Given the description of an element on the screen output the (x, y) to click on. 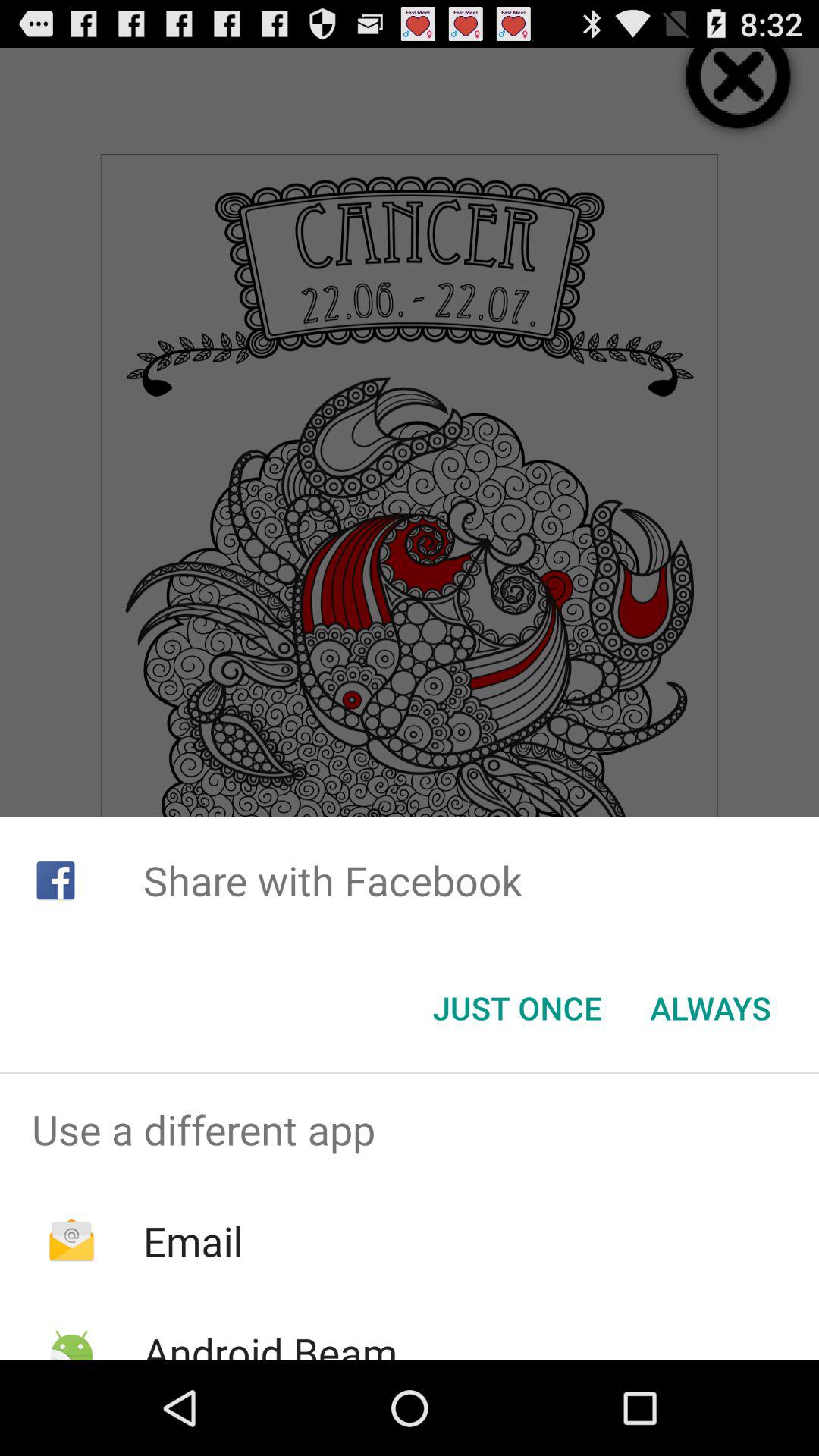
tap the icon next to the always icon (517, 1007)
